Given the description of an element on the screen output the (x, y) to click on. 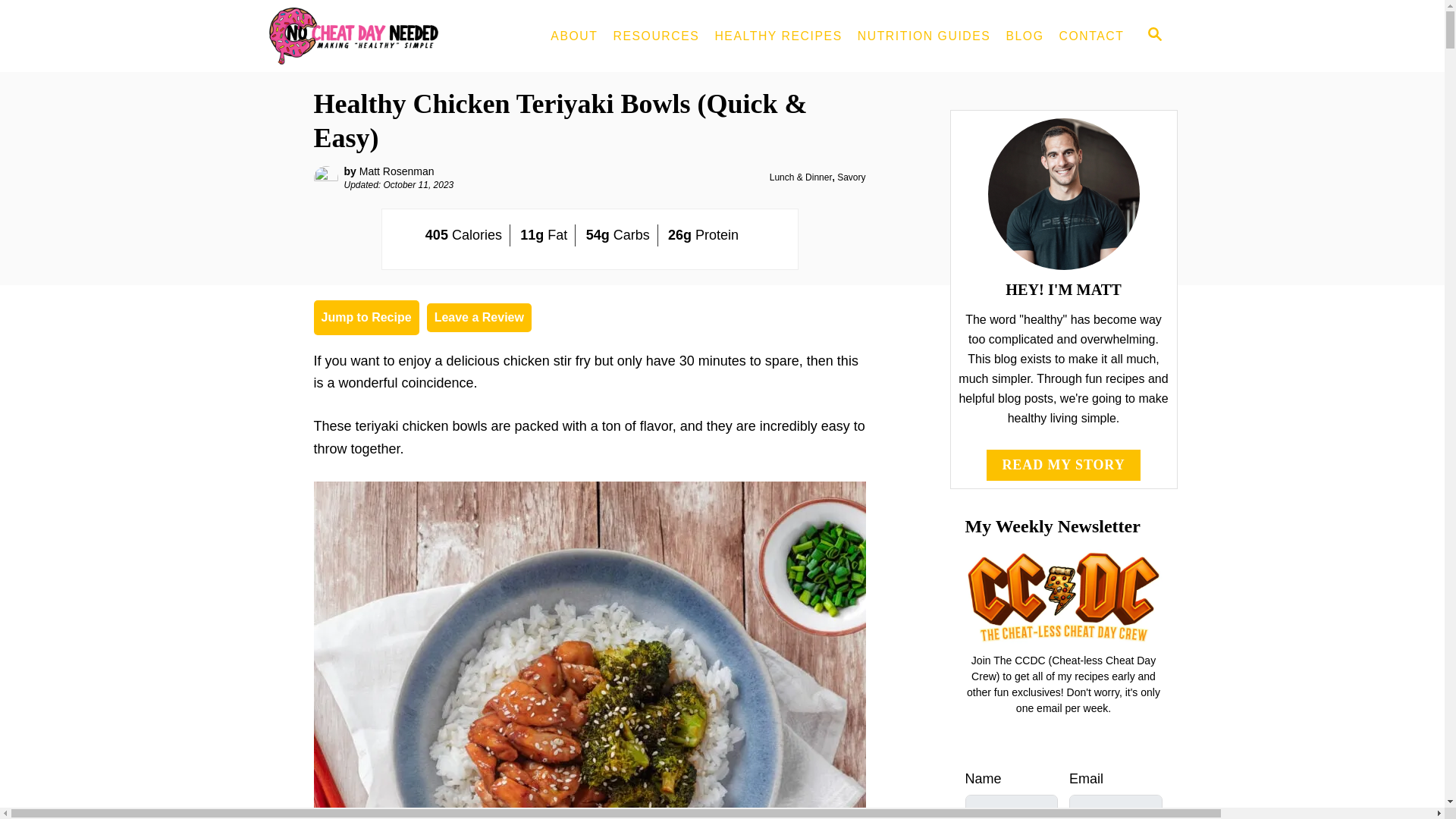
RESOURCES (655, 36)
CONTACT (1091, 36)
Savory (850, 176)
Leave a Review (478, 317)
BLOG (1024, 36)
SEARCH (1154, 35)
HEALTHY RECIPES (777, 36)
NUTRITION GUIDES (924, 36)
Matt Rosenman (396, 171)
Jump to Recipe (366, 317)
ABOUT (574, 36)
No Cheat Day Needed (392, 36)
